Given the description of an element on the screen output the (x, y) to click on. 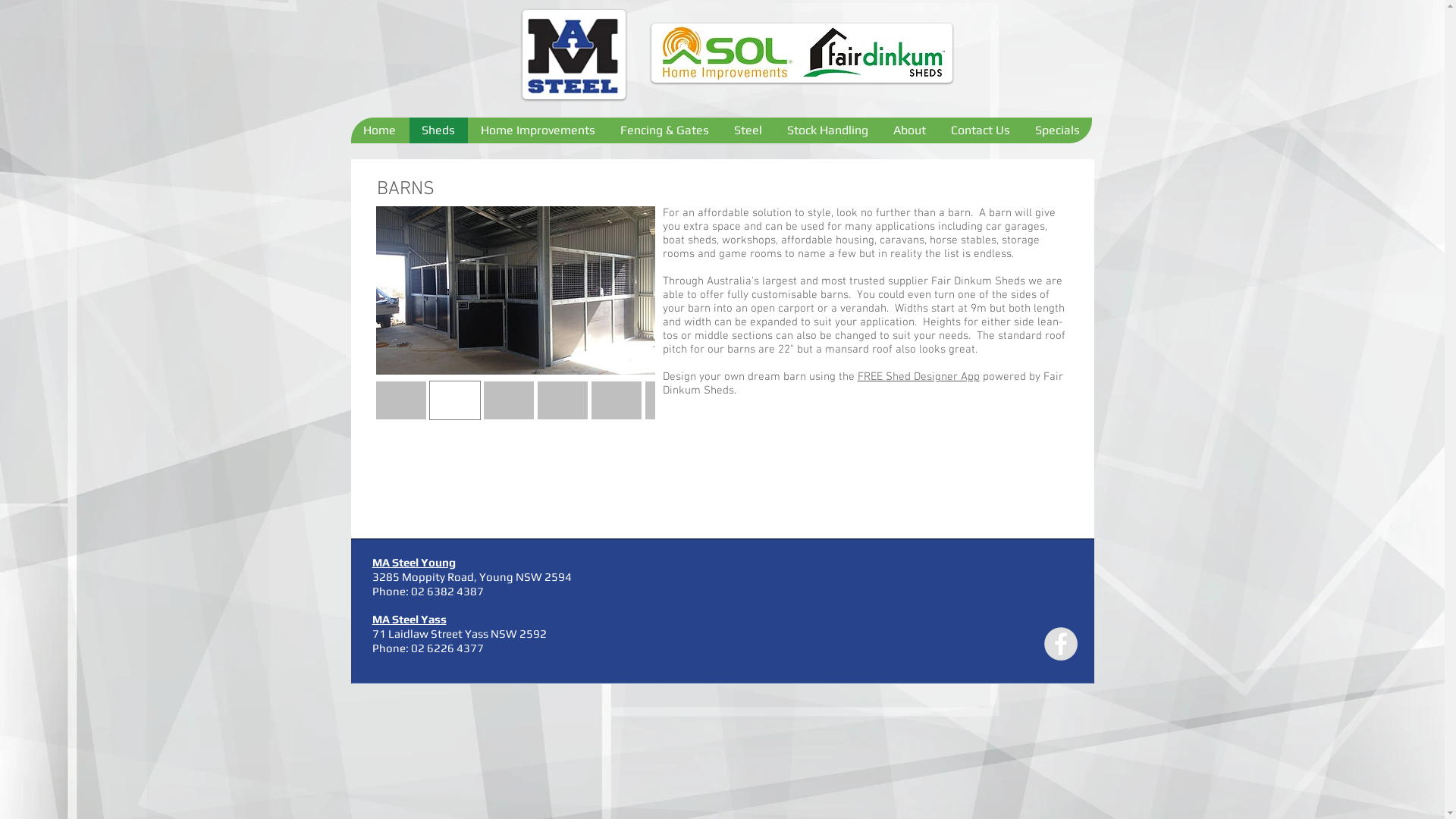
Home Improvements Element type: text (536, 130)
Specials Element type: text (1057, 130)
Steel Element type: text (746, 130)
FREE Shed Designer App Element type: text (917, 376)
MA Steel Yass Element type: text (408, 620)
Sheds Element type: text (437, 130)
Stock Handling Element type: text (826, 130)
Fencing & Gates Element type: text (663, 130)
Home Element type: text (378, 130)
Contact Us Element type: text (979, 130)
About Element type: text (908, 130)
MA Steel Young Element type: text (413, 563)
Fairdink & Sol Logo.jpg Element type: hover (800, 52)
